Given the description of an element on the screen output the (x, y) to click on. 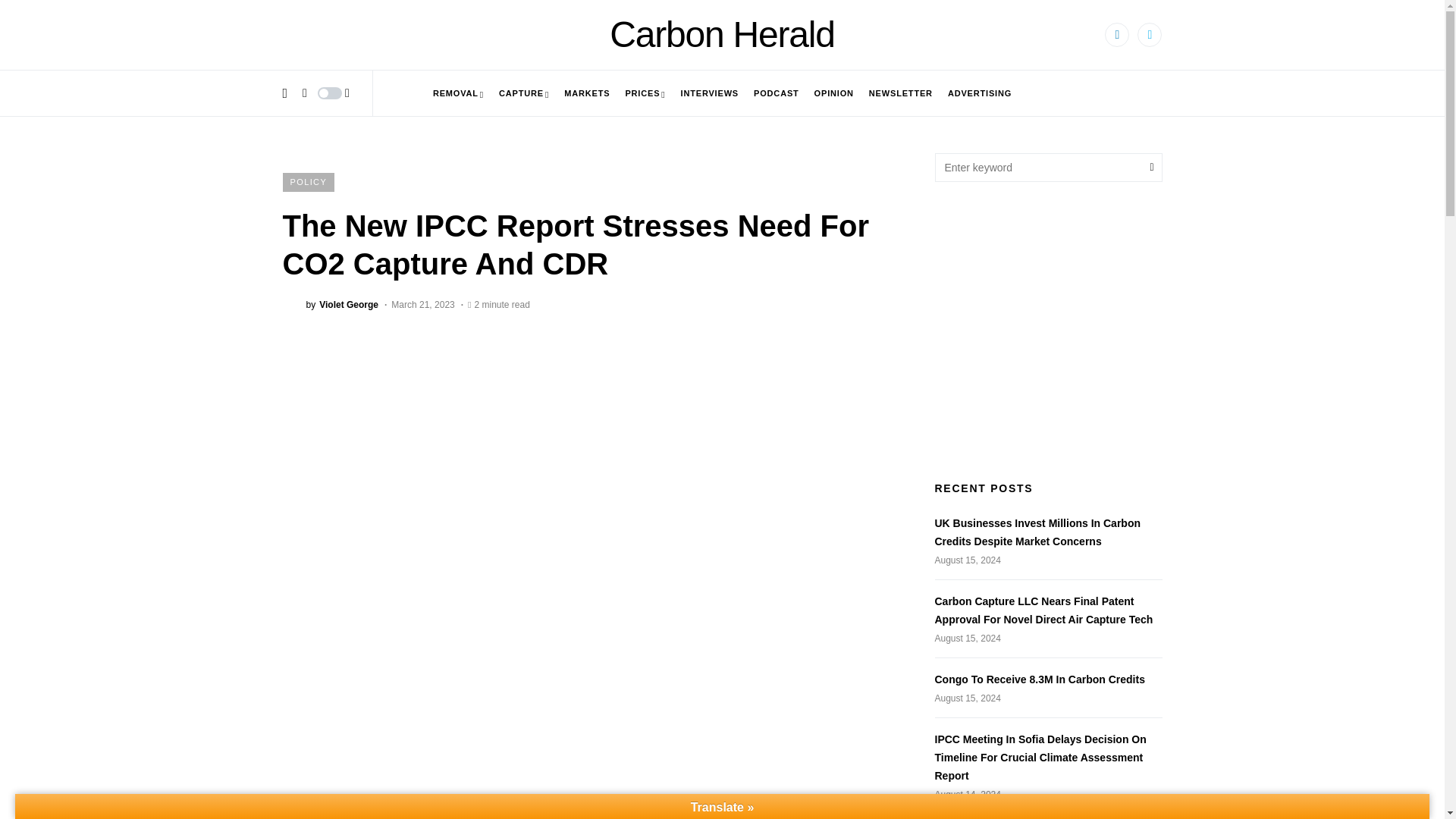
REMOVAL (457, 93)
View all posts by Violet George (330, 303)
Carbon Herald (722, 34)
